Given the description of an element on the screen output the (x, y) to click on. 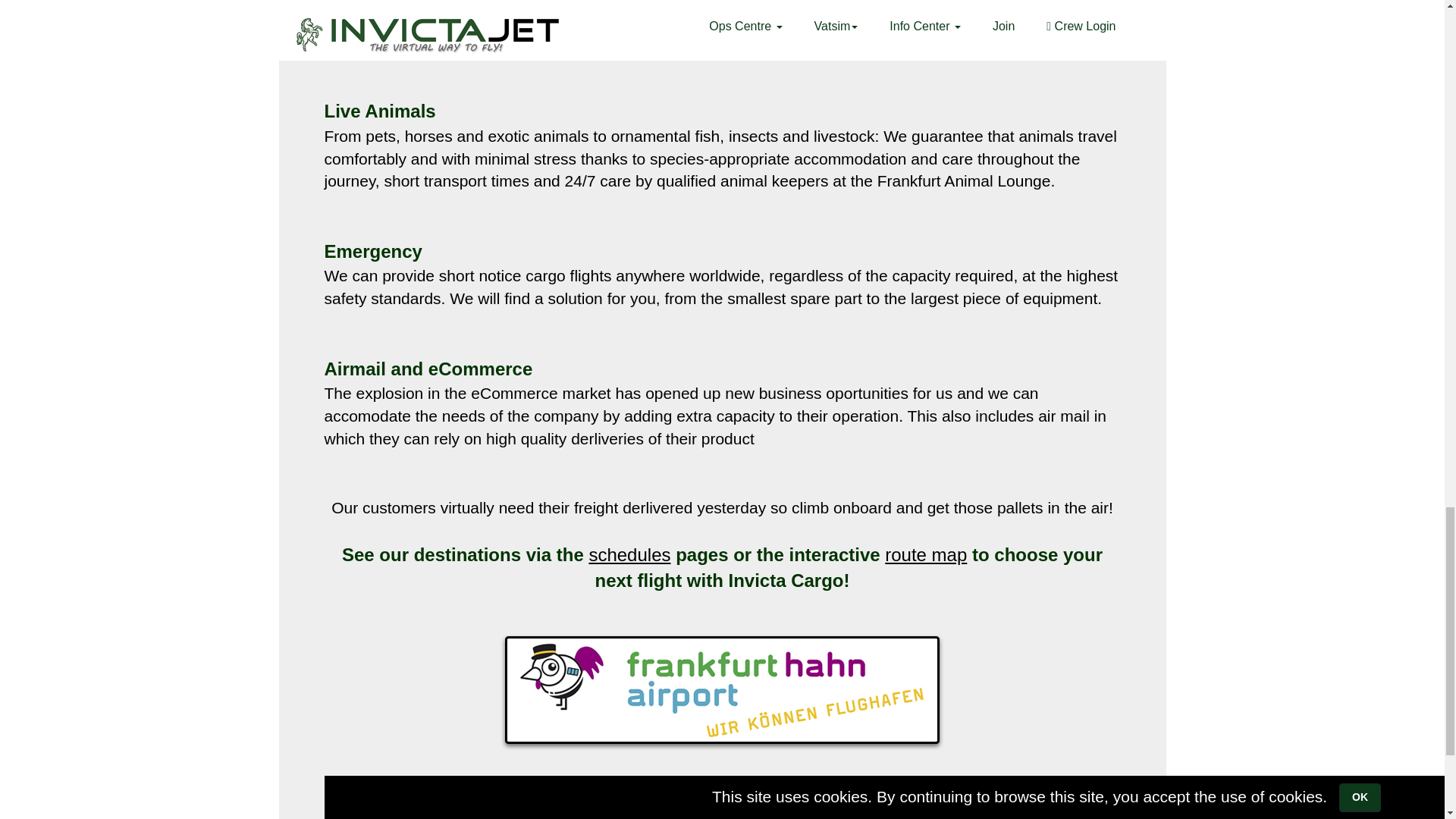
route map (925, 554)
schedules (628, 554)
